Given the description of an element on the screen output the (x, y) to click on. 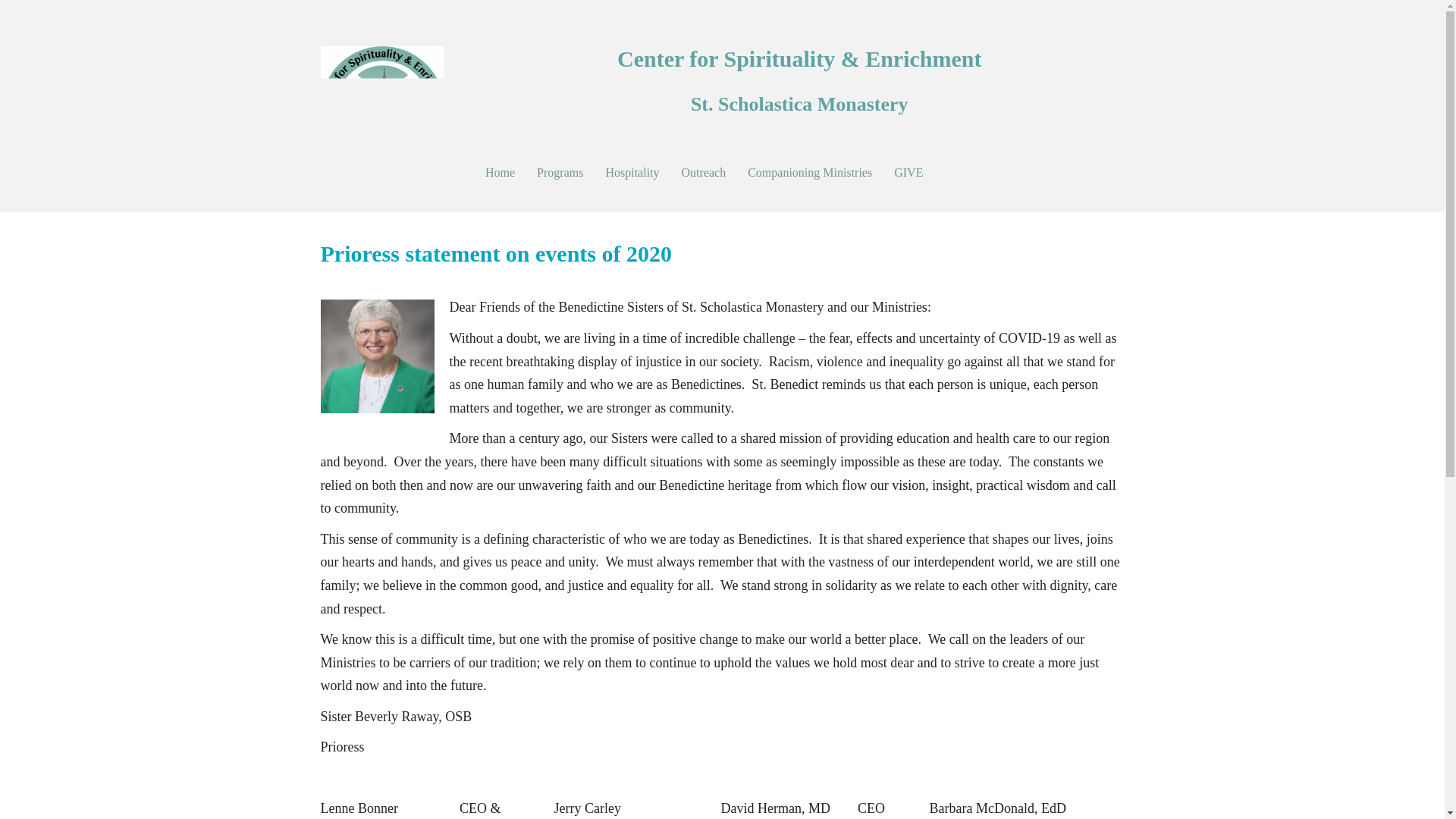
GIVE (908, 172)
Home (499, 172)
Programs (559, 172)
Outreach (703, 172)
Hospitality (631, 172)
Companioning Ministries (809, 172)
cropped-2024-logo-update.png (382, 107)
